Given the description of an element on the screen output the (x, y) to click on. 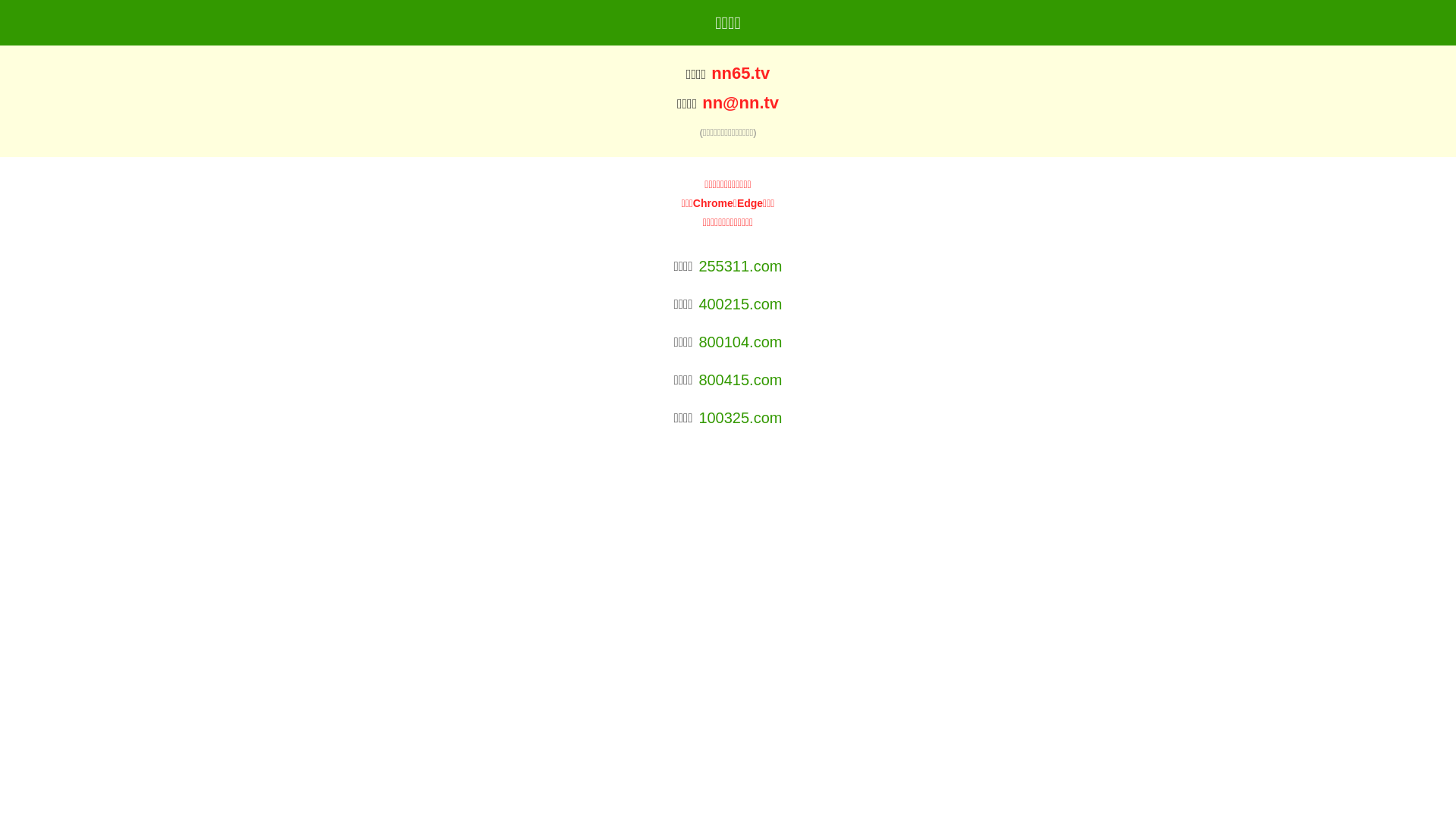
100325.com Element type: text (739, 417)
400215.com Element type: text (739, 303)
800104.com Element type: text (739, 341)
800415.com Element type: text (739, 379)
255311.com Element type: text (739, 265)
